Given the description of an element on the screen output the (x, y) to click on. 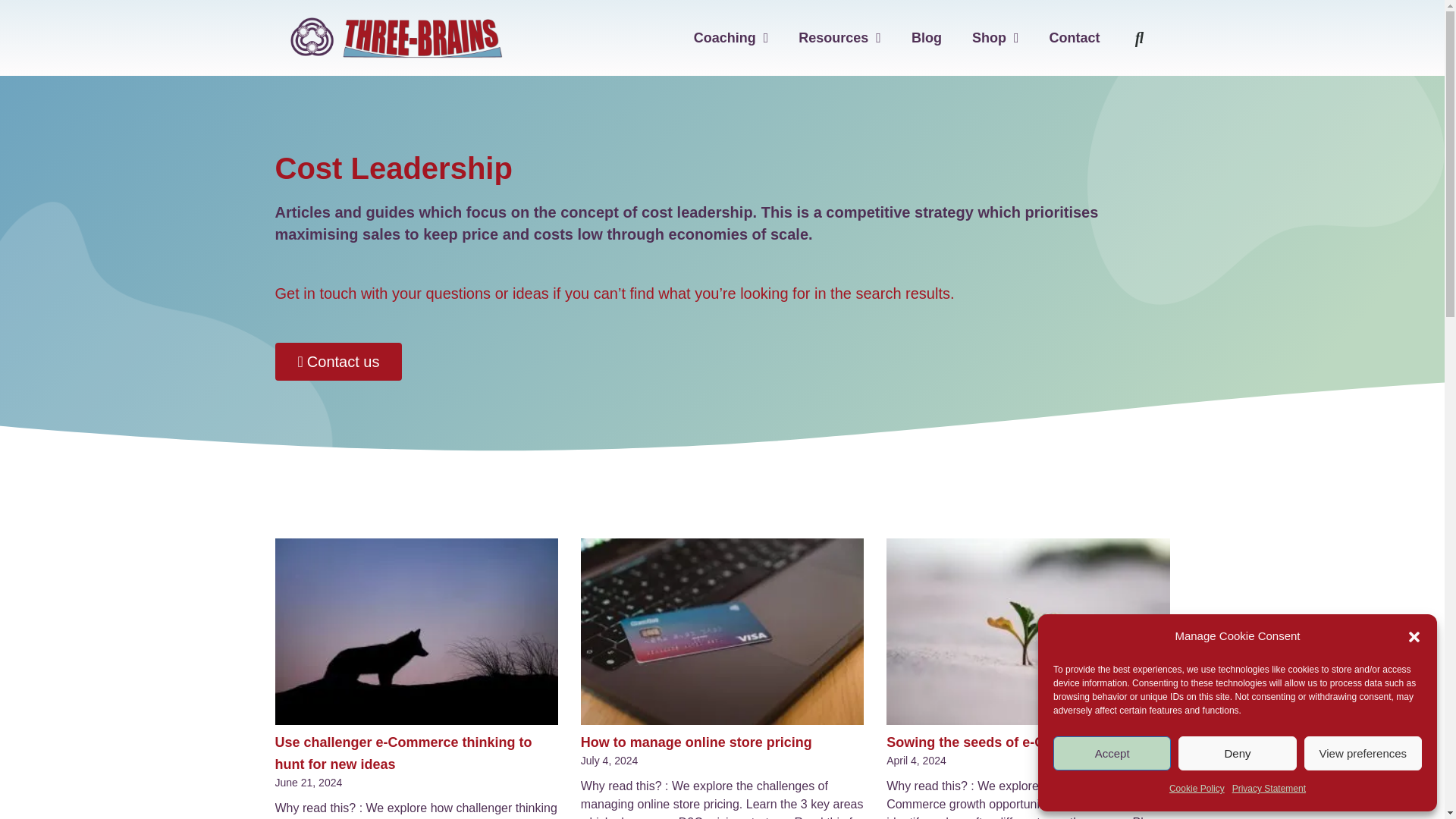
Cookie Policy (1196, 789)
Privacy Statement (1268, 789)
Accept (1111, 753)
Deny (1236, 753)
Skip to content (11, 31)
View preferences (1363, 753)
Resources (839, 38)
Coaching (731, 38)
